Given the description of an element on the screen output the (x, y) to click on. 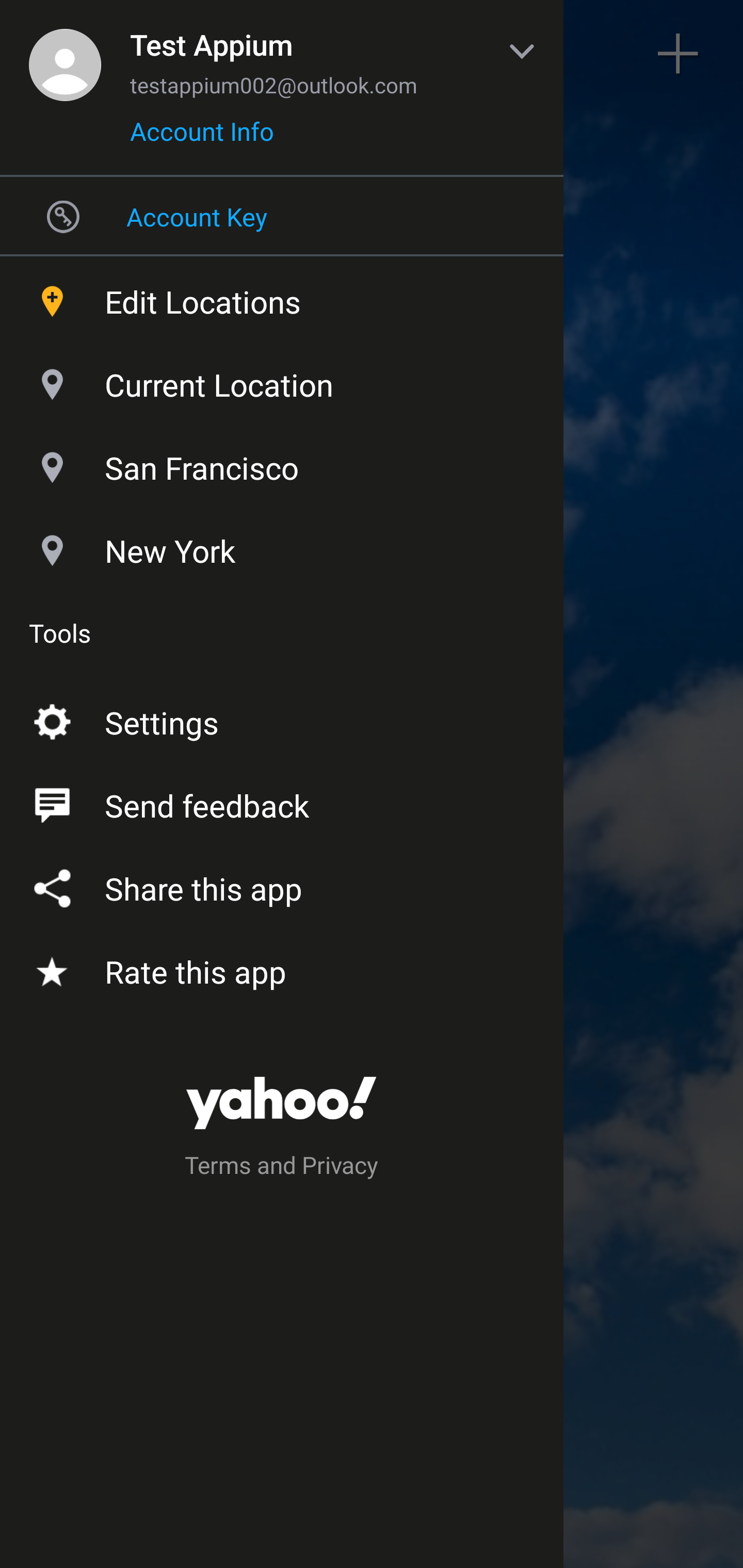
Sidebar (64, 54)
Account Info (202, 137)
Account Key (281, 216)
Edit Locations (281, 296)
Current Location (281, 379)
San Francisco (281, 462)
New York (281, 546)
Settings (281, 718)
Send feedback (281, 801)
Share this app (281, 884)
Terms and Privacy Terms and privacy button (281, 1168)
